Given the description of an element on the screen output the (x, y) to click on. 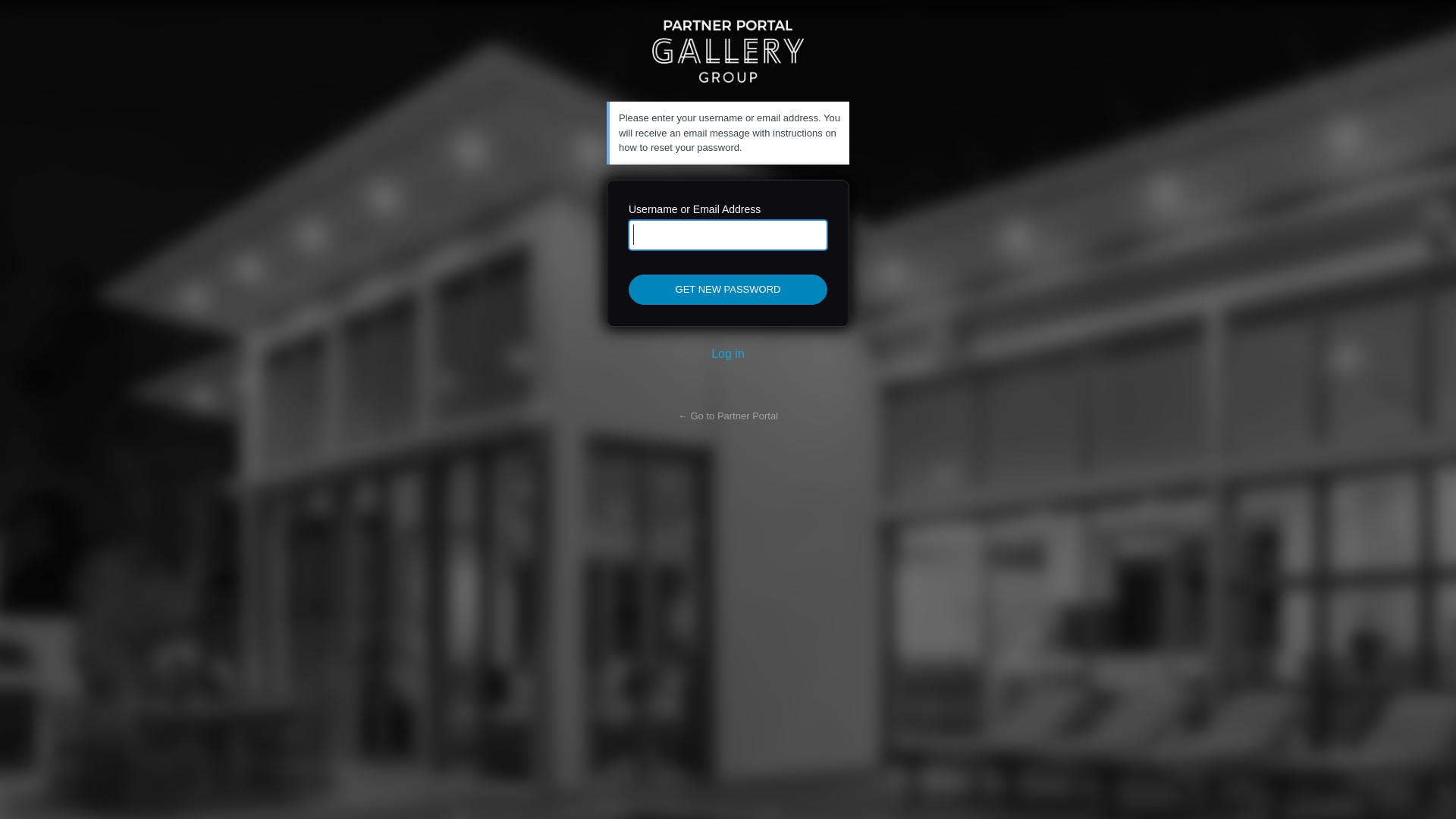
Log in Element type: text (727, 353)
Powered by WordPress Element type: text (727, 50)
Get New Password Element type: text (727, 289)
